Given the description of an element on the screen output the (x, y) to click on. 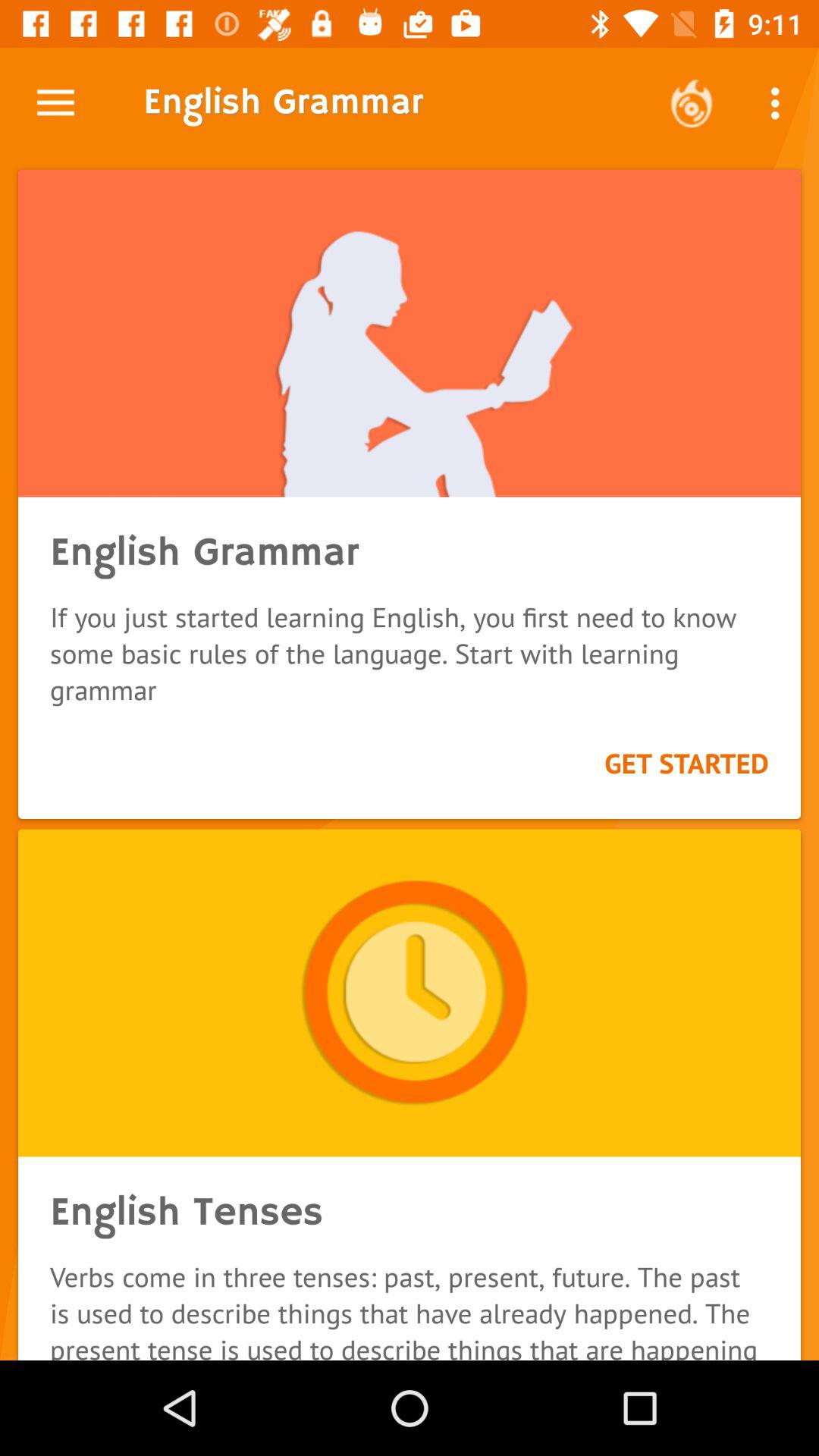
turn on the icon to the right of the english grammar (691, 103)
